Given the description of an element on the screen output the (x, y) to click on. 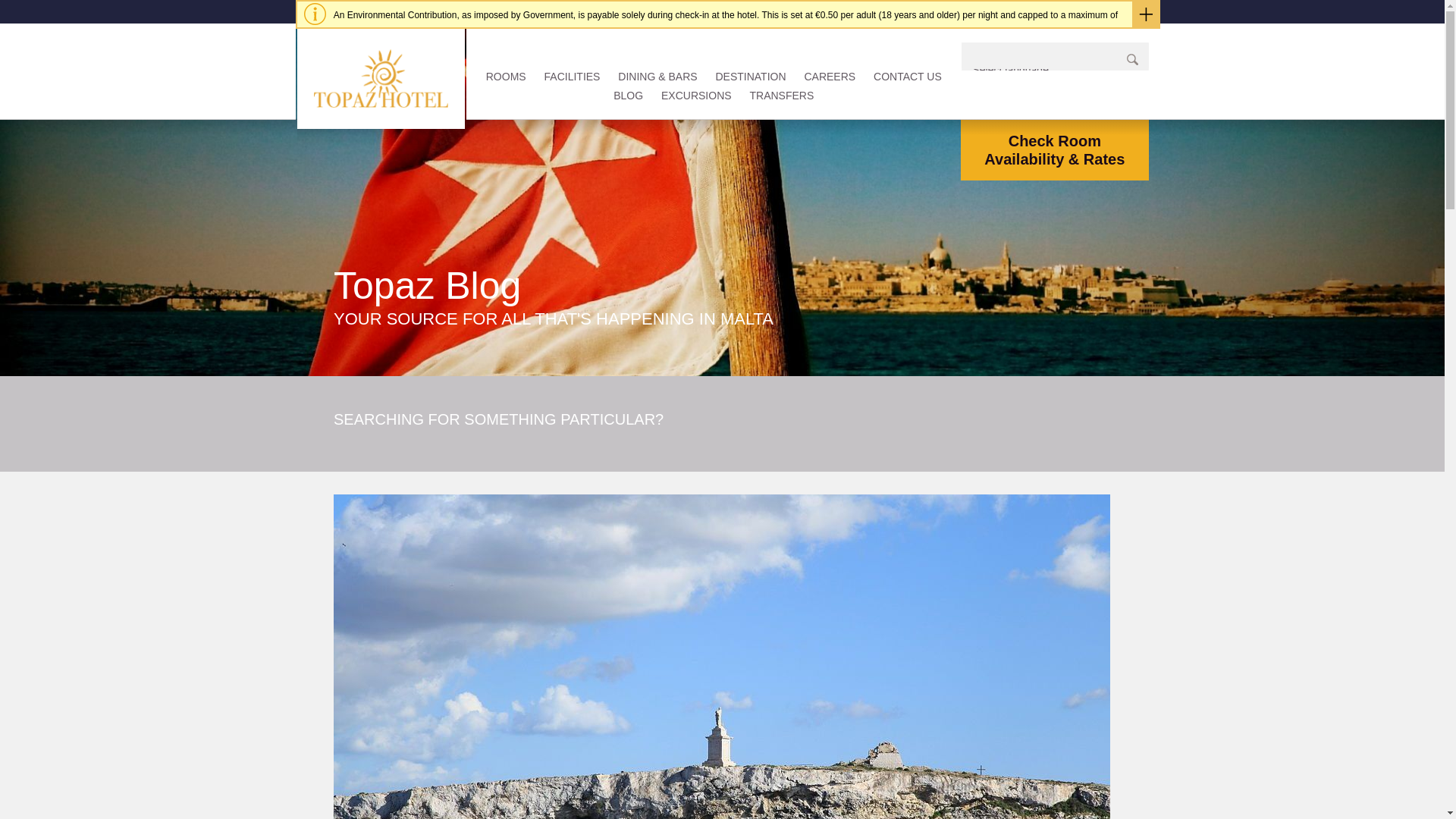
CAREERS (829, 76)
CONTACT US (907, 76)
Search (1132, 59)
BLOG (627, 95)
TRANSFERS (781, 95)
EXCURSIONS (696, 95)
ROOMS (505, 76)
Search (1132, 59)
FACILITIES (571, 76)
